Given the description of an element on the screen output the (x, y) to click on. 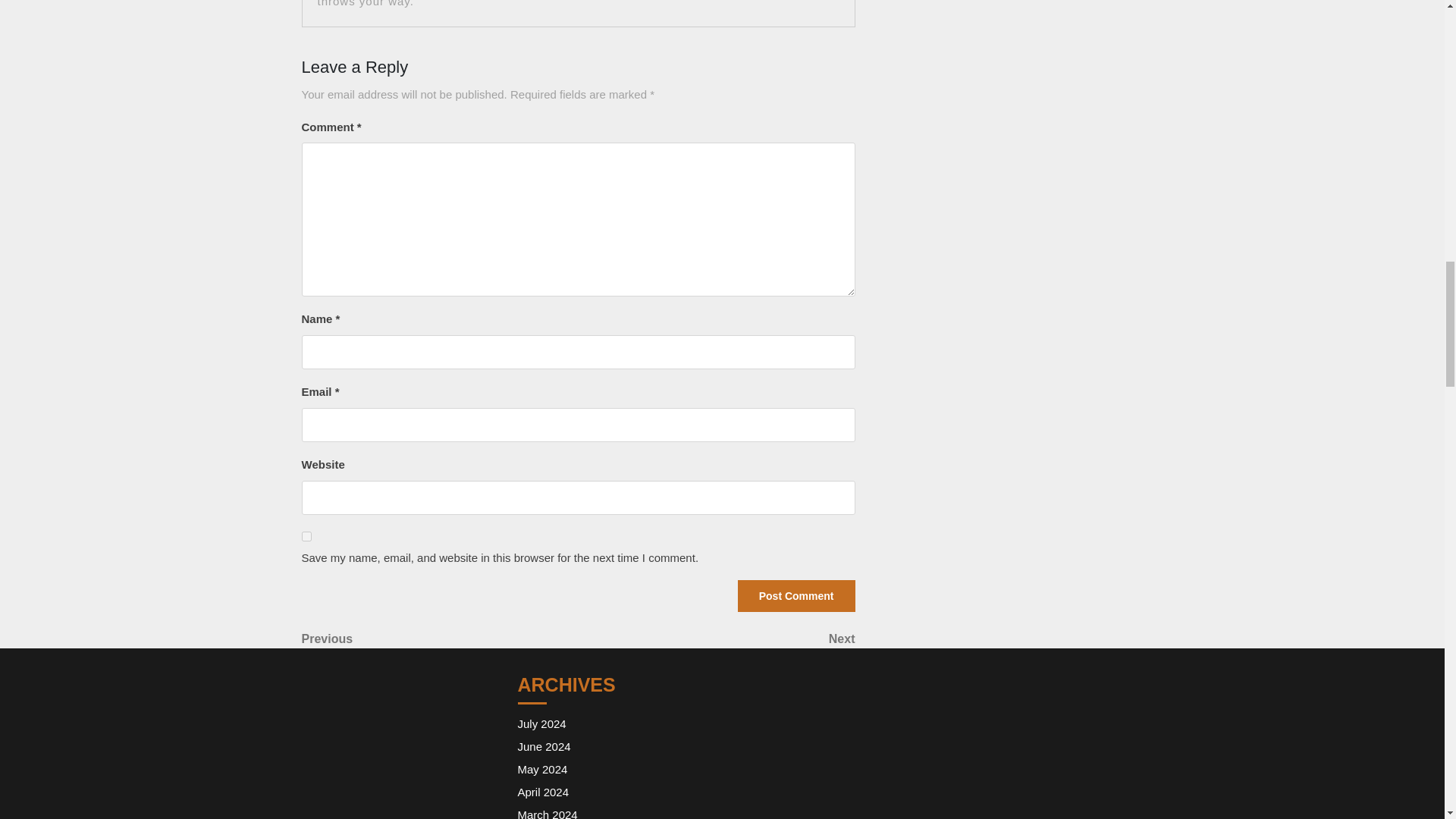
June 2024 (543, 746)
yes (306, 536)
May 2024 (541, 768)
July 2024 (439, 638)
Post Comment (541, 723)
March 2024 (797, 595)
Post Comment (546, 813)
April 2024 (716, 638)
